Given the description of an element on the screen output the (x, y) to click on. 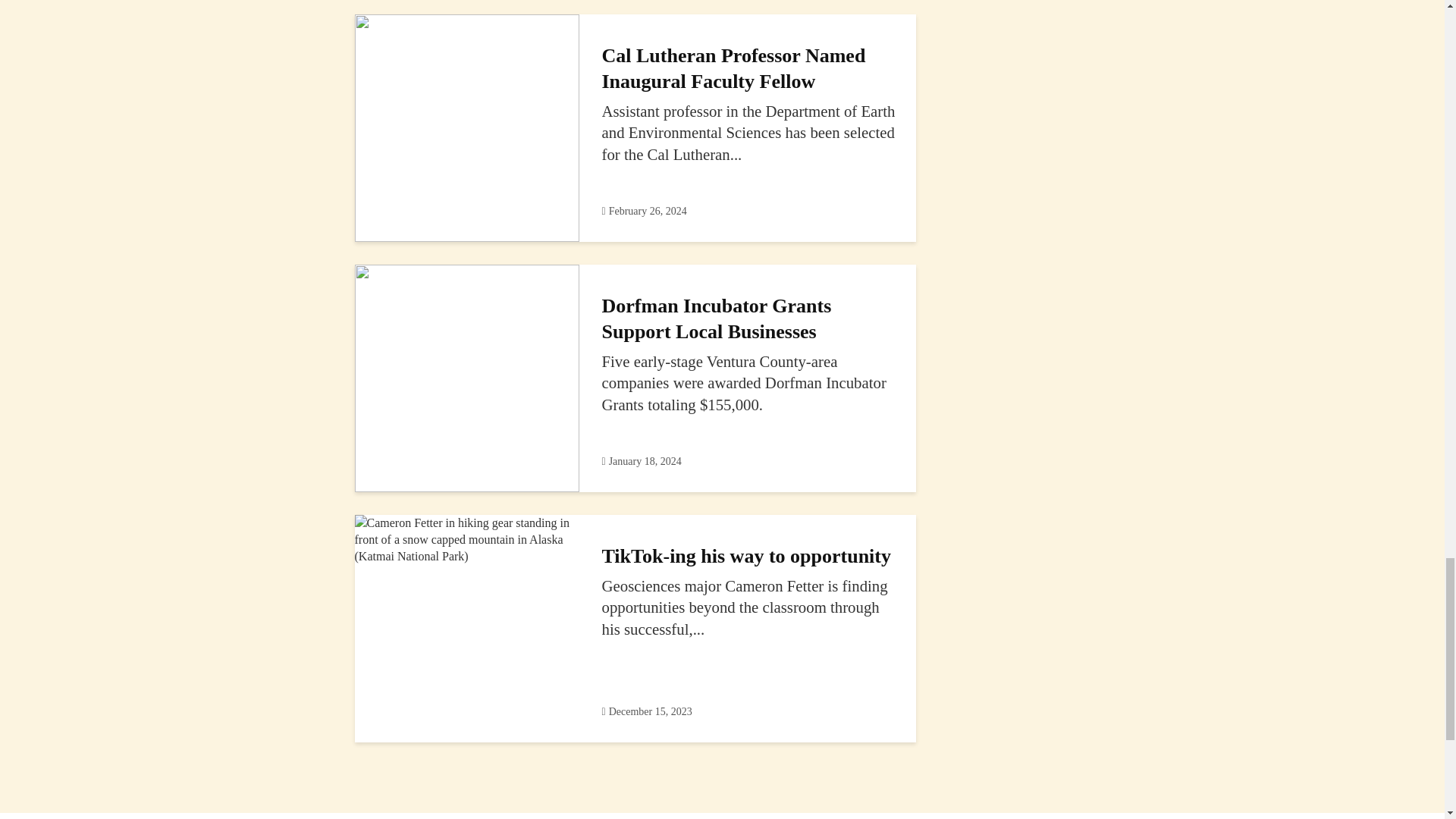
Cal Lutheran Professor Named Inaugural Faculty Fellow (467, 125)
TikTok-ing his way to opportunity (467, 537)
Dorfman Incubator Grants Support Local Businesses (467, 376)
